Given the description of an element on the screen output the (x, y) to click on. 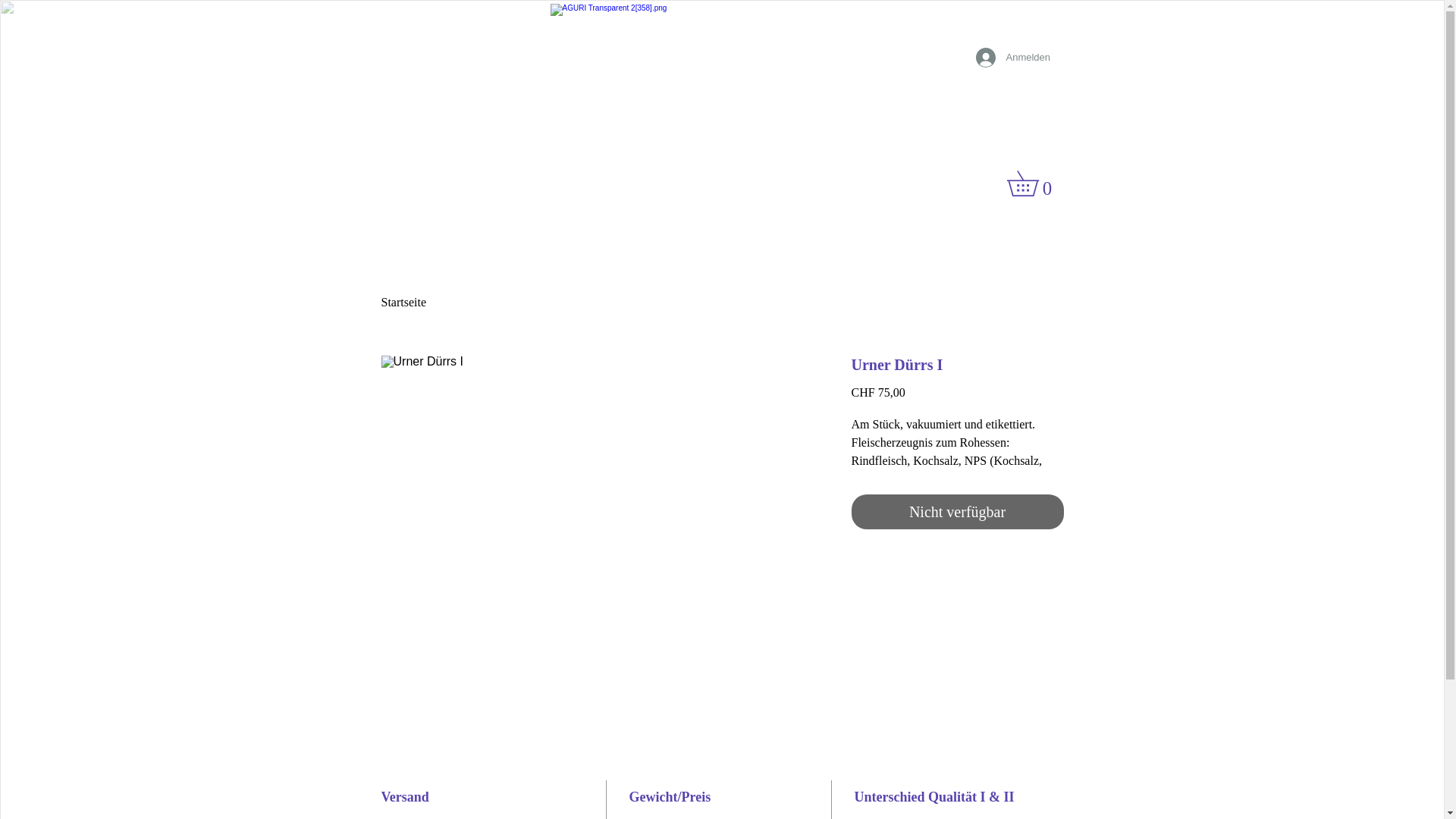
Kontakt Element type: text (1253, 292)
Startseite Element type: text (198, 292)
Startseite Element type: text (403, 301)
Anmelden Element type: text (1009, 57)
0 Element type: text (1035, 183)
